Given the description of an element on the screen output the (x, y) to click on. 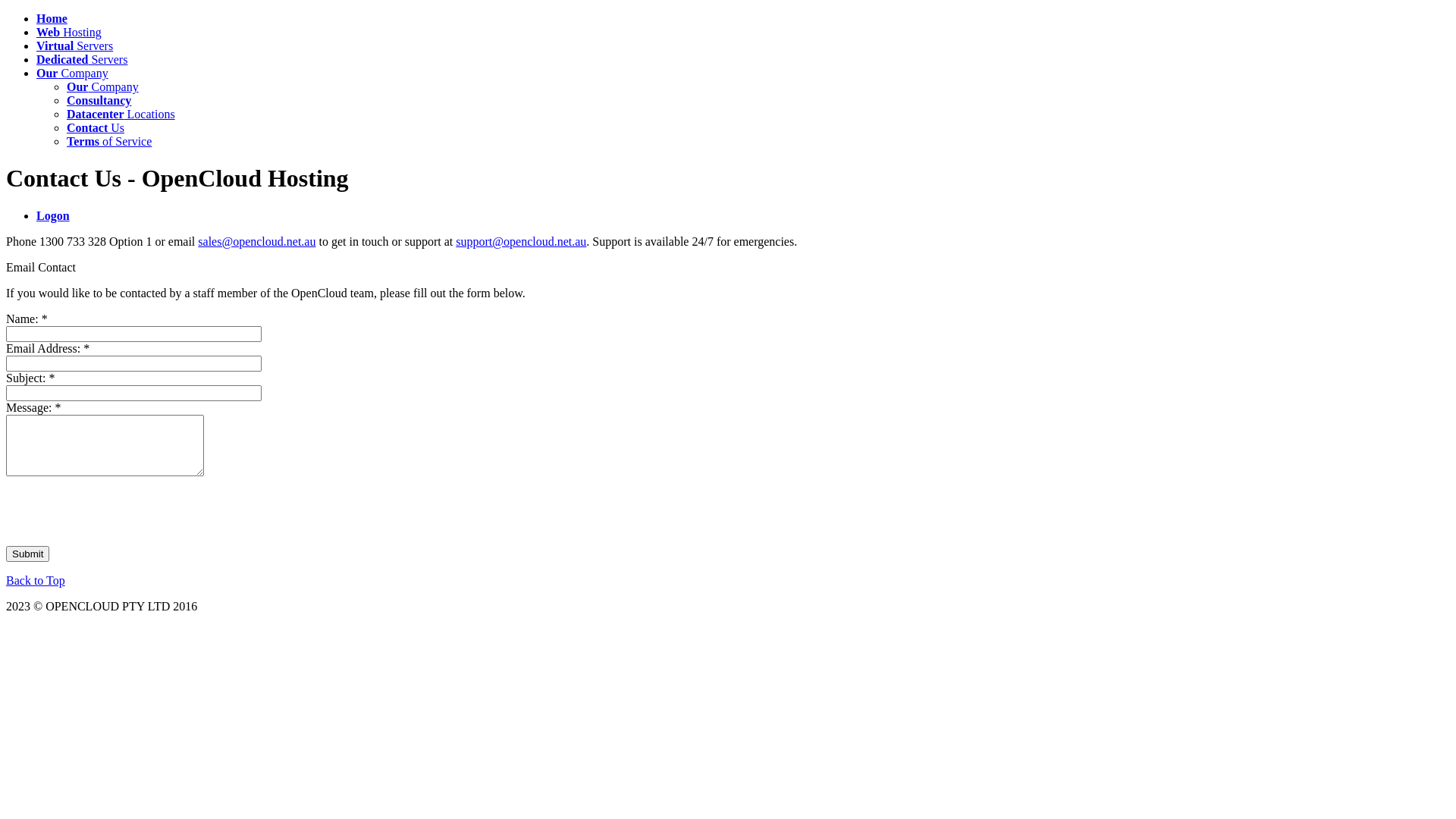
Consultancy Element type: text (98, 100)
Terms of Service Element type: text (108, 140)
Logon Element type: text (52, 215)
Our Company Element type: text (102, 86)
Home Element type: text (51, 18)
Back to Top Element type: text (35, 580)
Web Hosting Element type: text (68, 31)
Virtual Servers Element type: text (74, 45)
sales@opencloud.net.au Element type: text (256, 241)
Dedicated Servers Element type: text (81, 59)
support@opencloud.net.au Element type: text (520, 241)
Contact Us Element type: text (95, 127)
Our Company Element type: text (72, 72)
Submit Element type: text (27, 553)
Datacenter Locations Element type: text (120, 113)
